Given the description of an element on the screen output the (x, y) to click on. 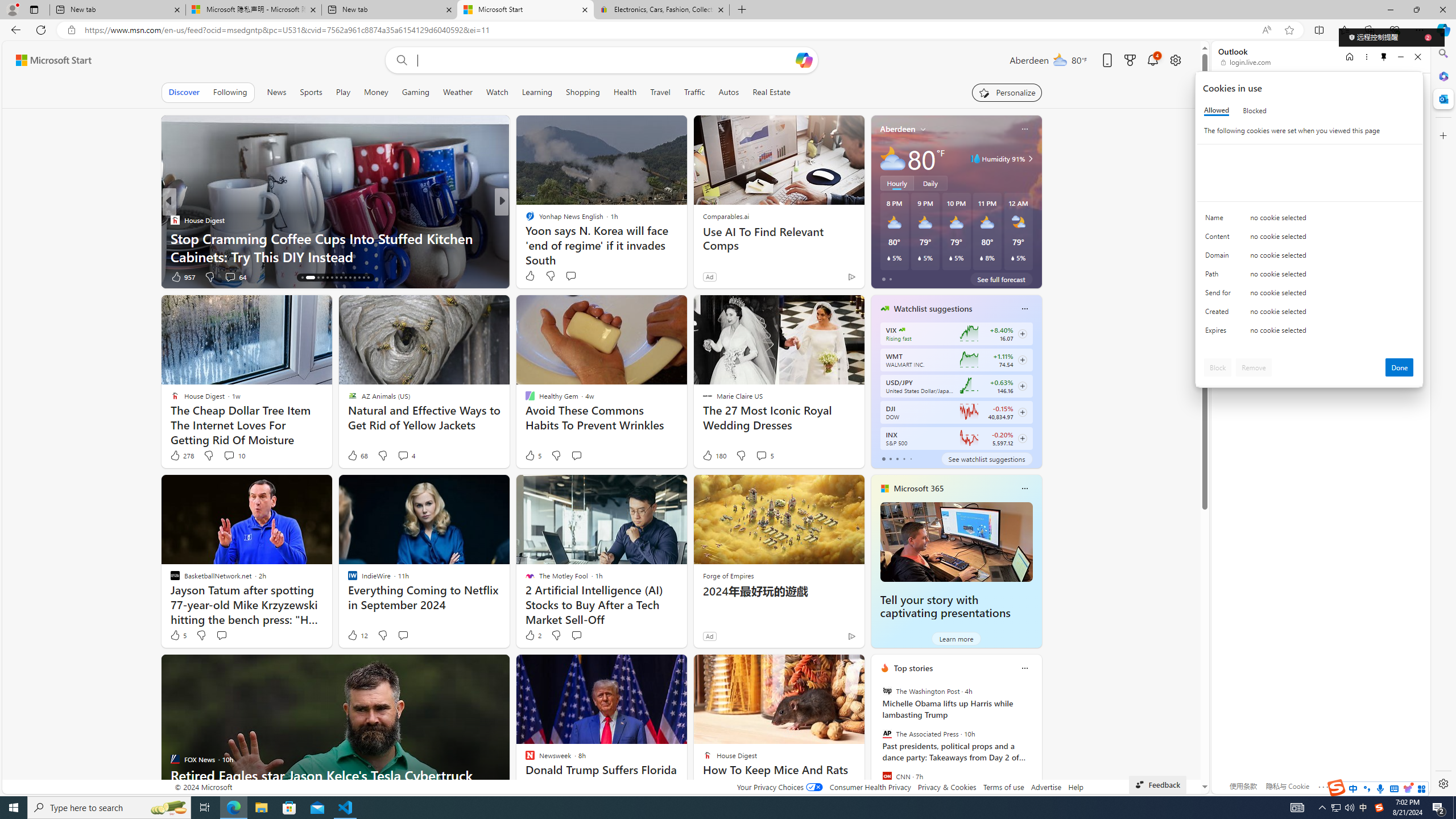
View comments 4 Comment (403, 455)
AutomationID: tab-16 (309, 277)
View comments 37 Comment (581, 276)
Simply Recipes (524, 219)
11 Like (530, 276)
6 Like (529, 276)
Created (1219, 313)
